Given the description of an element on the screen output the (x, y) to click on. 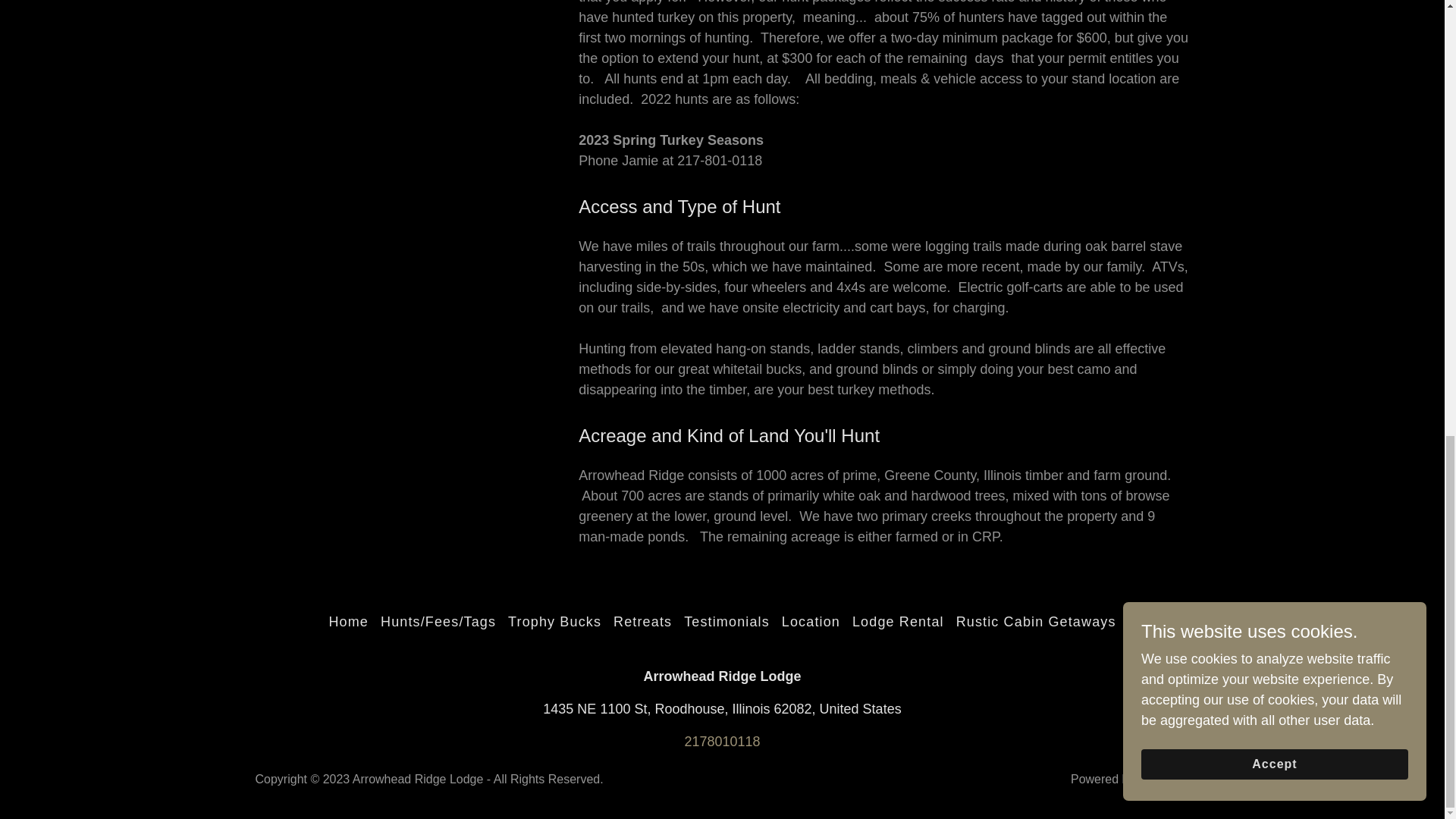
Retreats (642, 622)
Trophy Bucks (554, 622)
Home (347, 622)
